Given the description of an element on the screen output the (x, y) to click on. 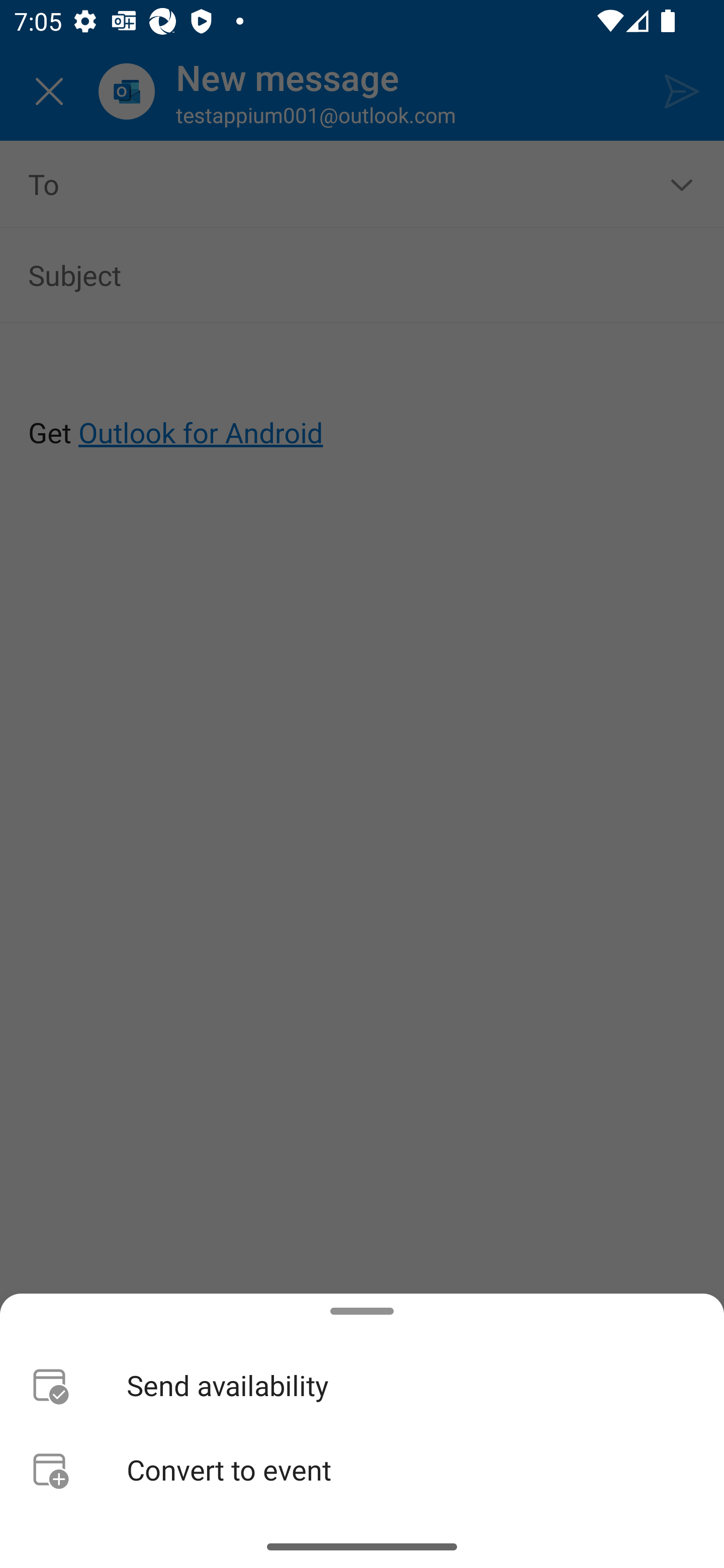
Send availability (362, 1384)
Convert to event (362, 1468)
